Given the description of an element on the screen output the (x, y) to click on. 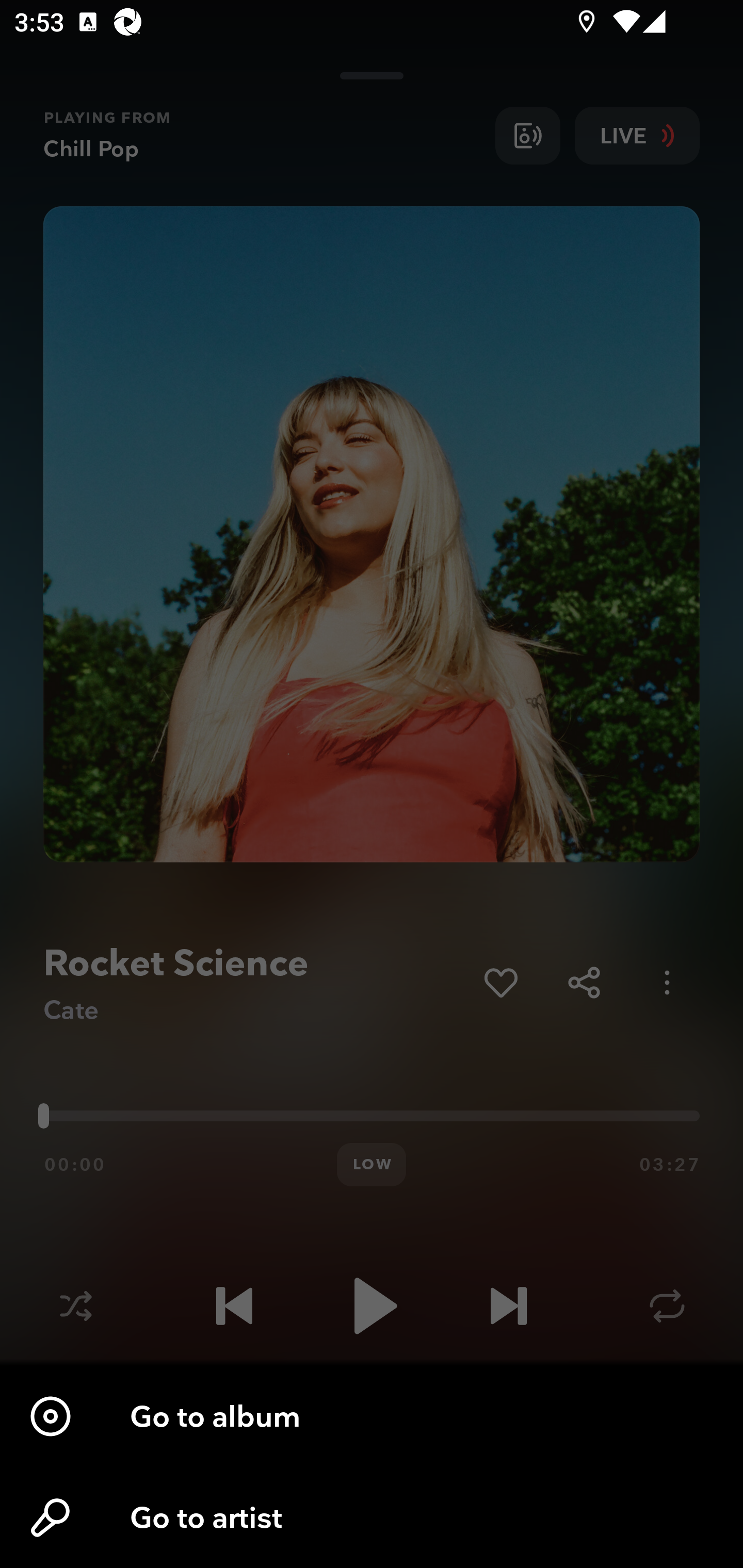
Go to album (371, 1416)
Go to artist (371, 1517)
